Given the description of an element on the screen output the (x, y) to click on. 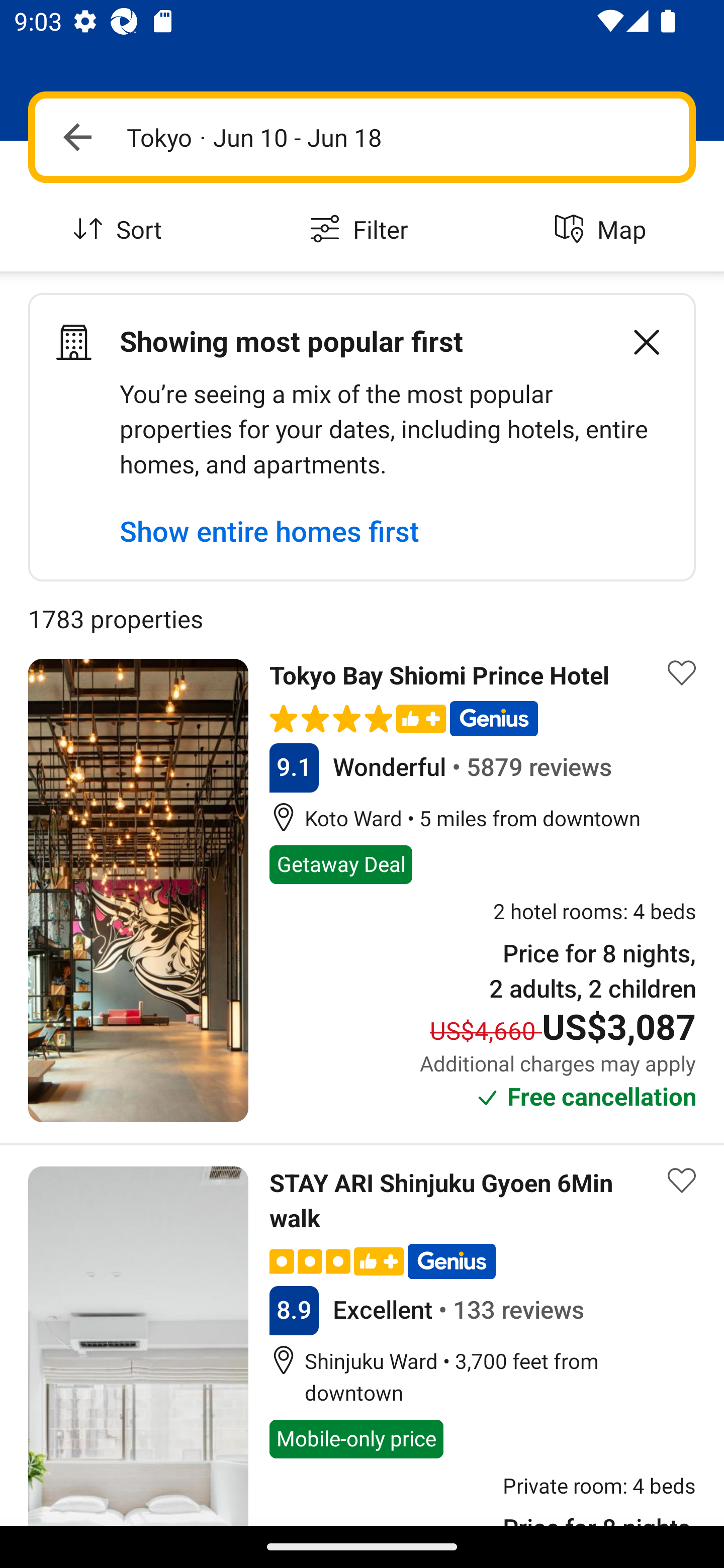
Navigate up Tokyo · Jun 10 - Jun 18 (362, 136)
Navigate up (77, 136)
Sort (120, 230)
Filter (361, 230)
Map (603, 230)
Clear (635, 341)
Show entire homes first (269, 531)
Save property to list (681, 672)
Save property to list (681, 1180)
